Given the description of an element on the screen output the (x, y) to click on. 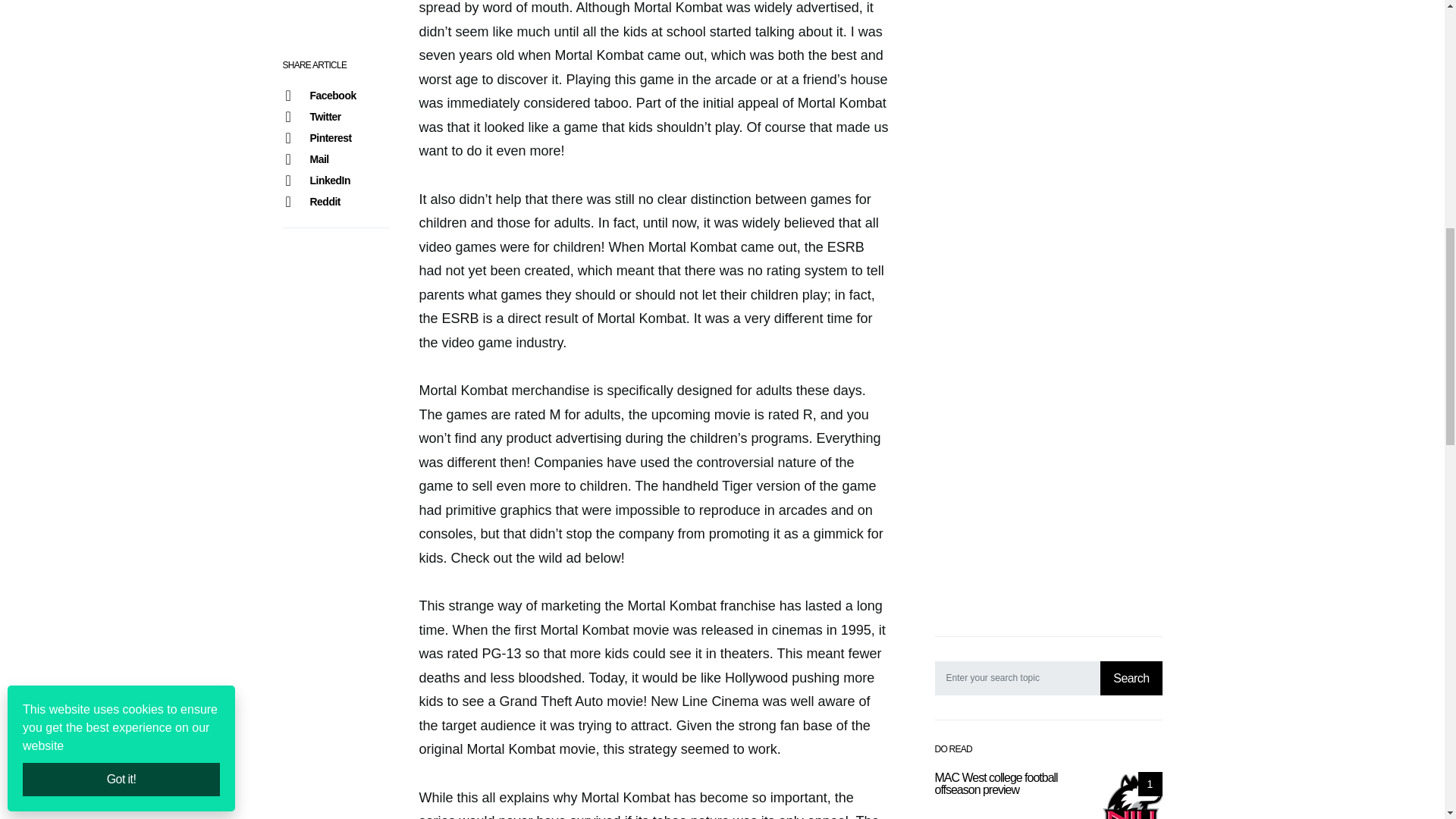
Search (1130, 427)
MAC West college football offseason preview (1130, 550)
